Given the description of an element on the screen output the (x, y) to click on. 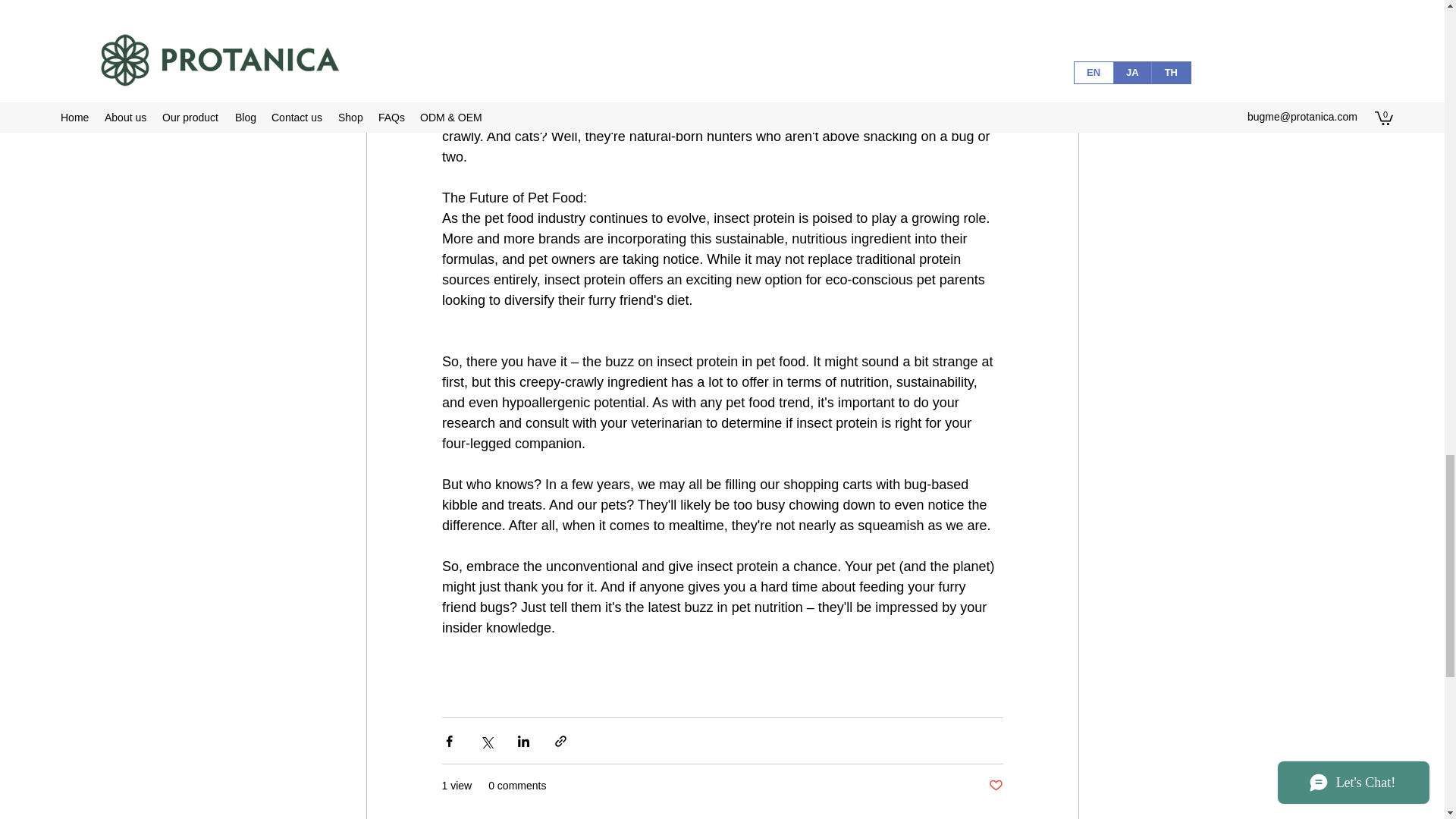
Post not marked as liked (995, 785)
